Given the description of an element on the screen output the (x, y) to click on. 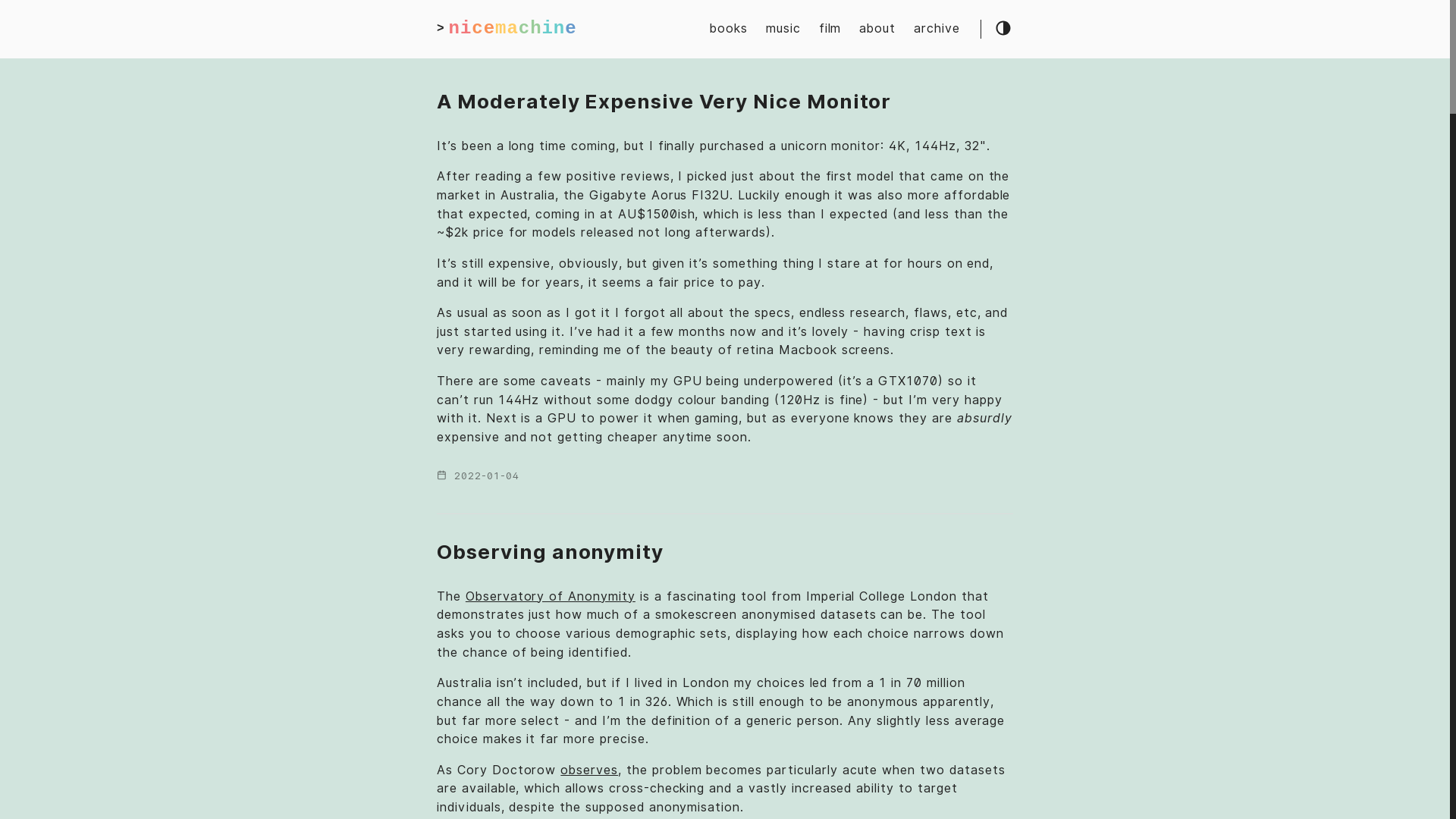
film Element type: text (830, 28)
archive Element type: text (936, 28)
A Moderately Expensive Very Nice Monitor Element type: text (663, 101)
books Element type: text (728, 28)
Observing anonymity Element type: text (549, 551)
Observatory of Anonymity Element type: text (550, 596)
music Element type: text (782, 28)
about Element type: text (877, 28)
observes Element type: text (589, 769)
>
nicemachine Element type: text (506, 29)
